Given the description of an element on the screen output the (x, y) to click on. 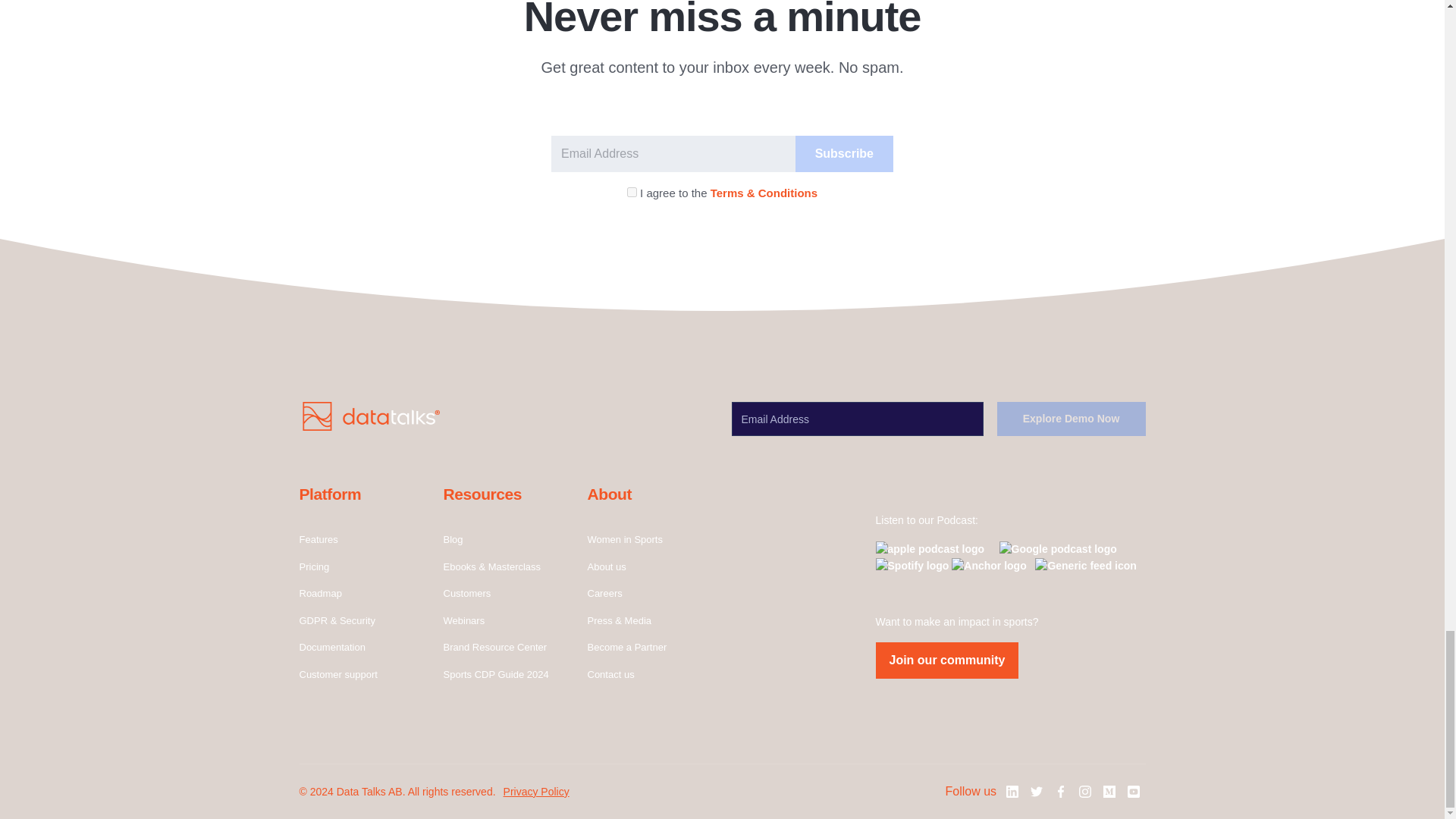
Subscribe (843, 153)
1 (632, 192)
Instagram icon (1084, 791)
Spread the word (1132, 791)
Twitters icon (1035, 791)
Spread the word (1011, 791)
Spread the word (1108, 791)
